Given the description of an element on the screen output the (x, y) to click on. 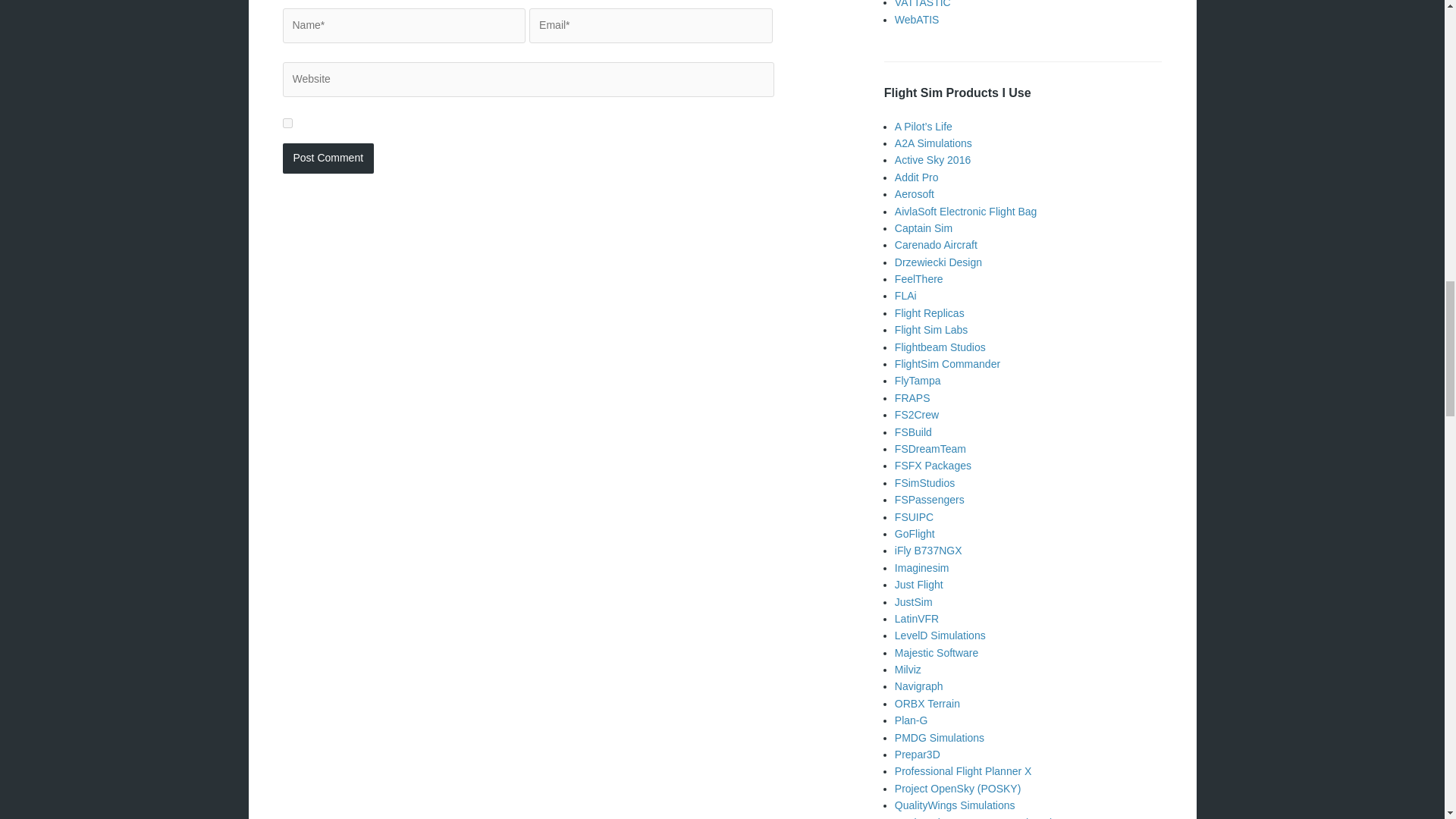
Post Comment (328, 158)
Post Comment (328, 158)
yes (287, 122)
